Given the description of an element on the screen output the (x, y) to click on. 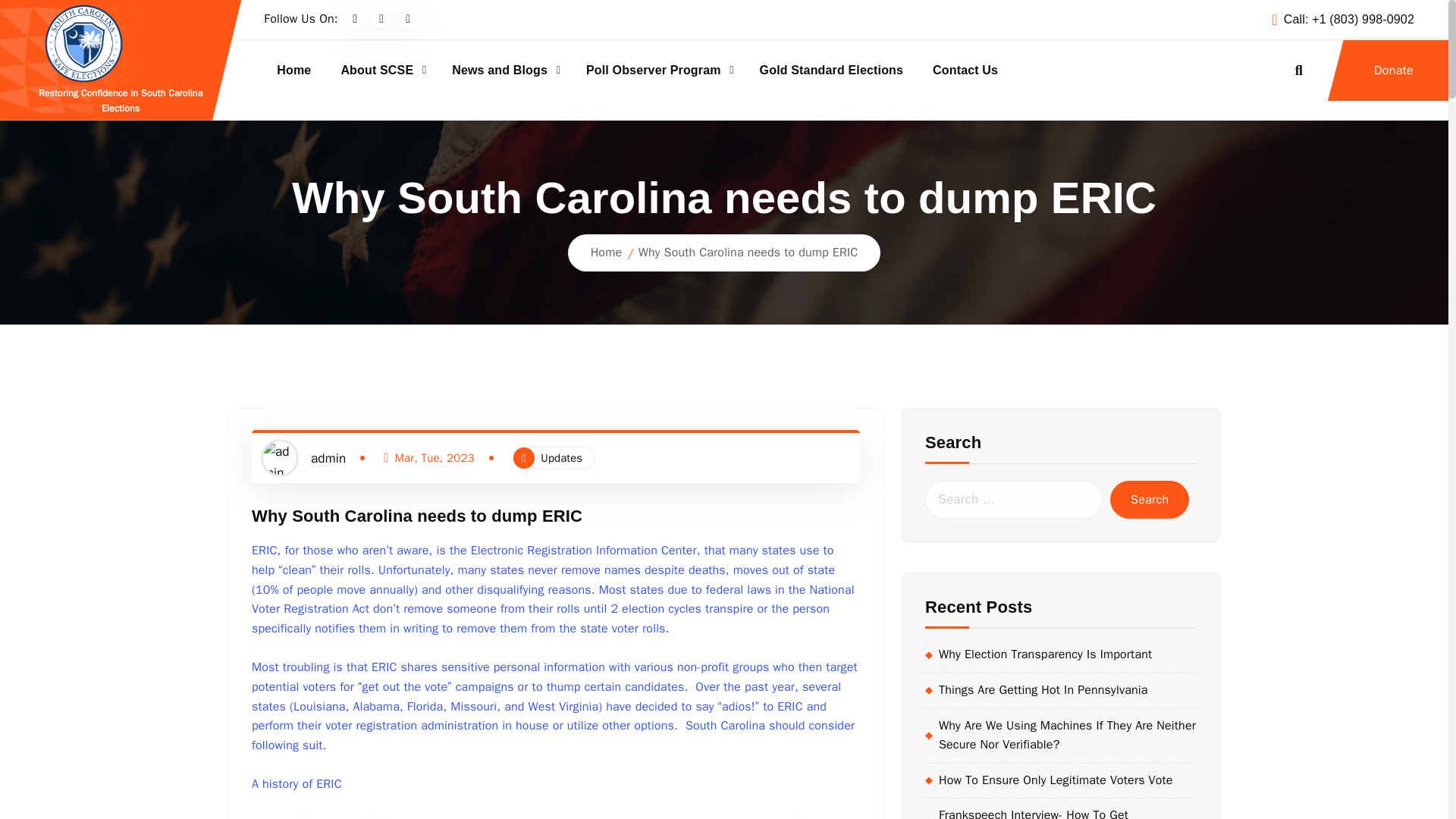
Home (293, 70)
Poll Observer Program (658, 70)
Gold Standard Elections (831, 70)
Home (293, 70)
Poll Observer Program (658, 70)
About SCSE (381, 70)
Donate (1387, 70)
About SCSE (381, 70)
News and Blogs (504, 70)
Contact Us (965, 70)
News and Blogs (504, 70)
Search (1149, 499)
Search (1149, 499)
